Given the description of an element on the screen output the (x, y) to click on. 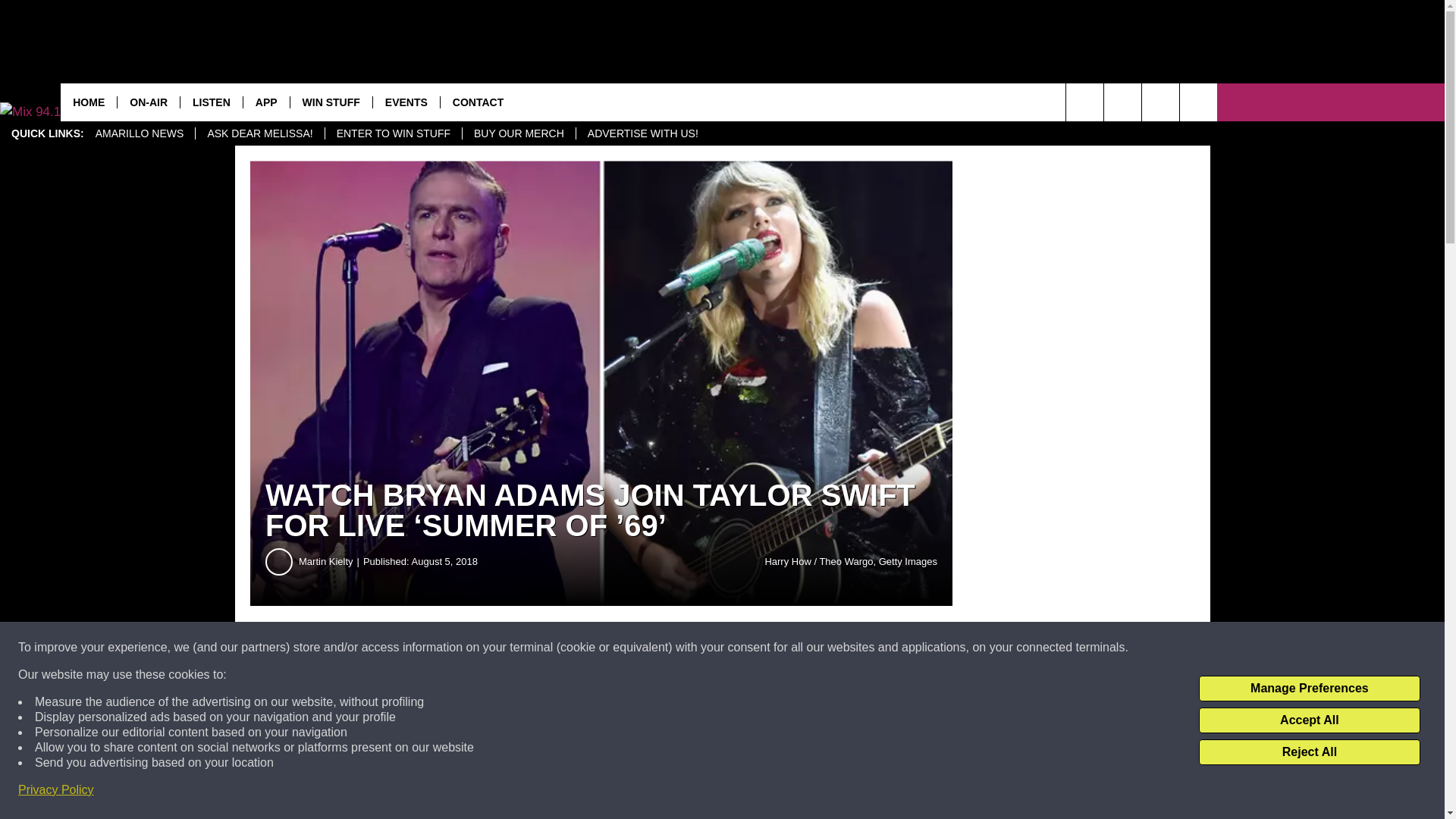
WIN STUFF (330, 102)
APP (266, 102)
ASK DEAR MELISSA! (259, 133)
HOME (88, 102)
Accept All (1309, 720)
ADVERTISE WITH US! (642, 133)
ON-AIR (147, 102)
Reject All (1309, 751)
BUY OUR MERCH (518, 133)
ENTER TO WIN STUFF (392, 133)
Share on Facebook (460, 647)
Share on Twitter (741, 647)
LISTEN (211, 102)
Manage Preferences (1309, 688)
AMARILLO NEWS (139, 133)
